Given the description of an element on the screen output the (x, y) to click on. 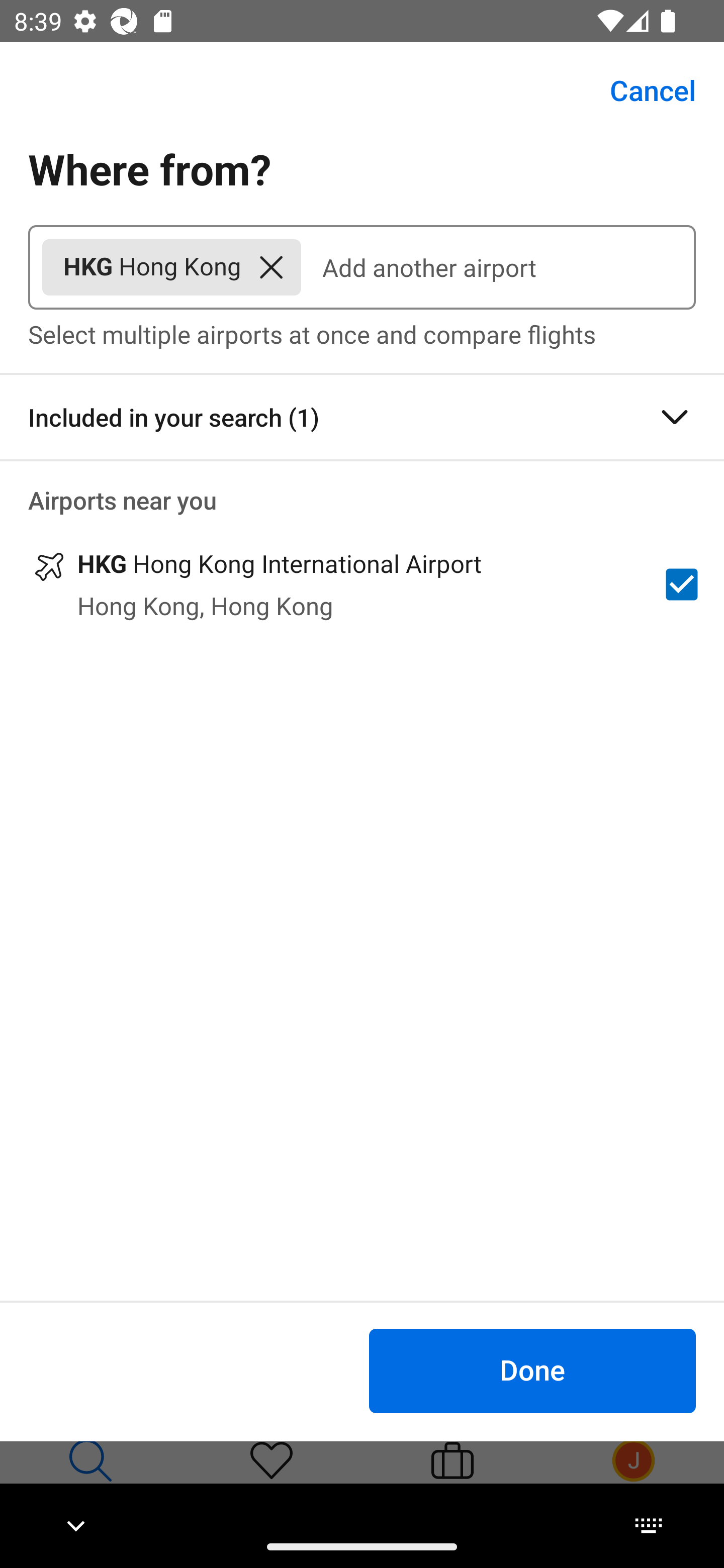
Cancel (641, 90)
Add another airport (498, 266)
HKG Hong Kong Remove HKG Hong Kong (171, 266)
Included in your search (1) (362, 416)
Done (532, 1370)
